Given the description of an element on the screen output the (x, y) to click on. 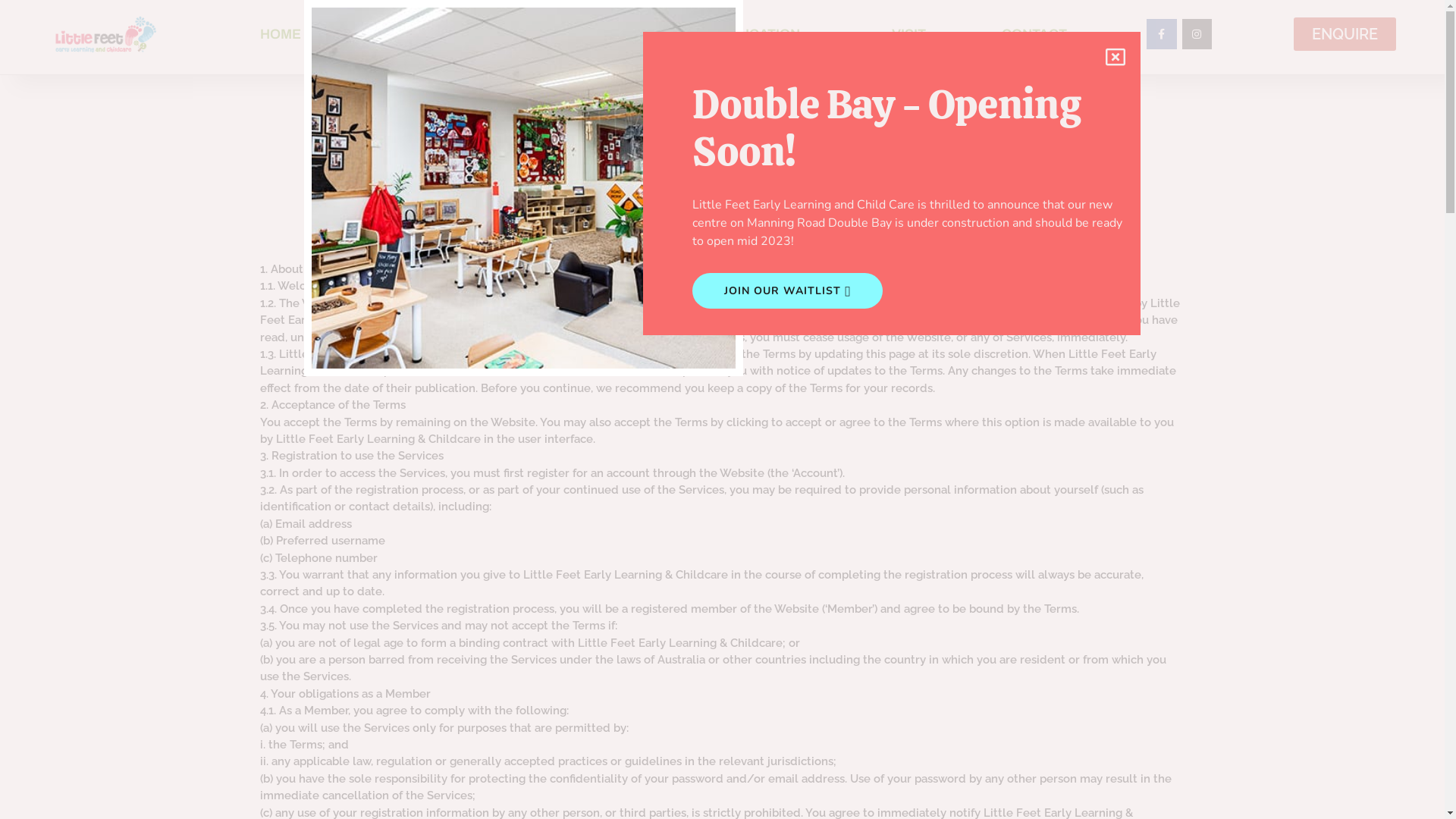
VISIT Element type: text (908, 33)
ENQUIRE Element type: text (1344, 33)
CONTACT Element type: text (1034, 33)
HOME Element type: text (280, 33)
OUR LOCATIONS Element type: text (580, 33)
Tiny Tots Room Element type: hover (523, 188)
EDUCATION Element type: text (768, 33)
ABOUT Element type: text (408, 33)
